Given the description of an element on the screen output the (x, y) to click on. 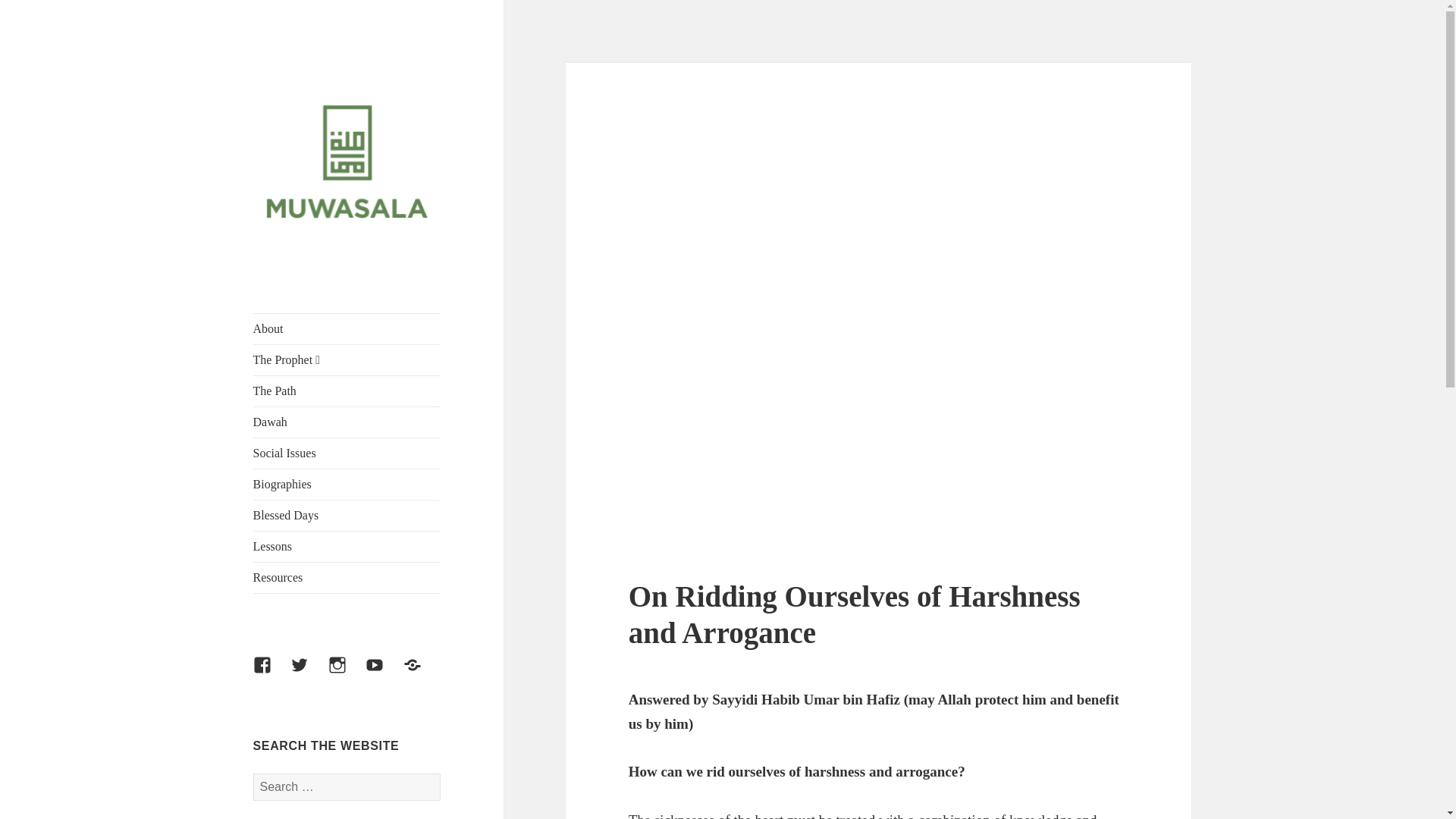
About (347, 328)
Biographies (347, 484)
Dawah (347, 422)
Social Issues (347, 453)
MUWASALA (313, 273)
The Path (347, 390)
